Given the description of an element on the screen output the (x, y) to click on. 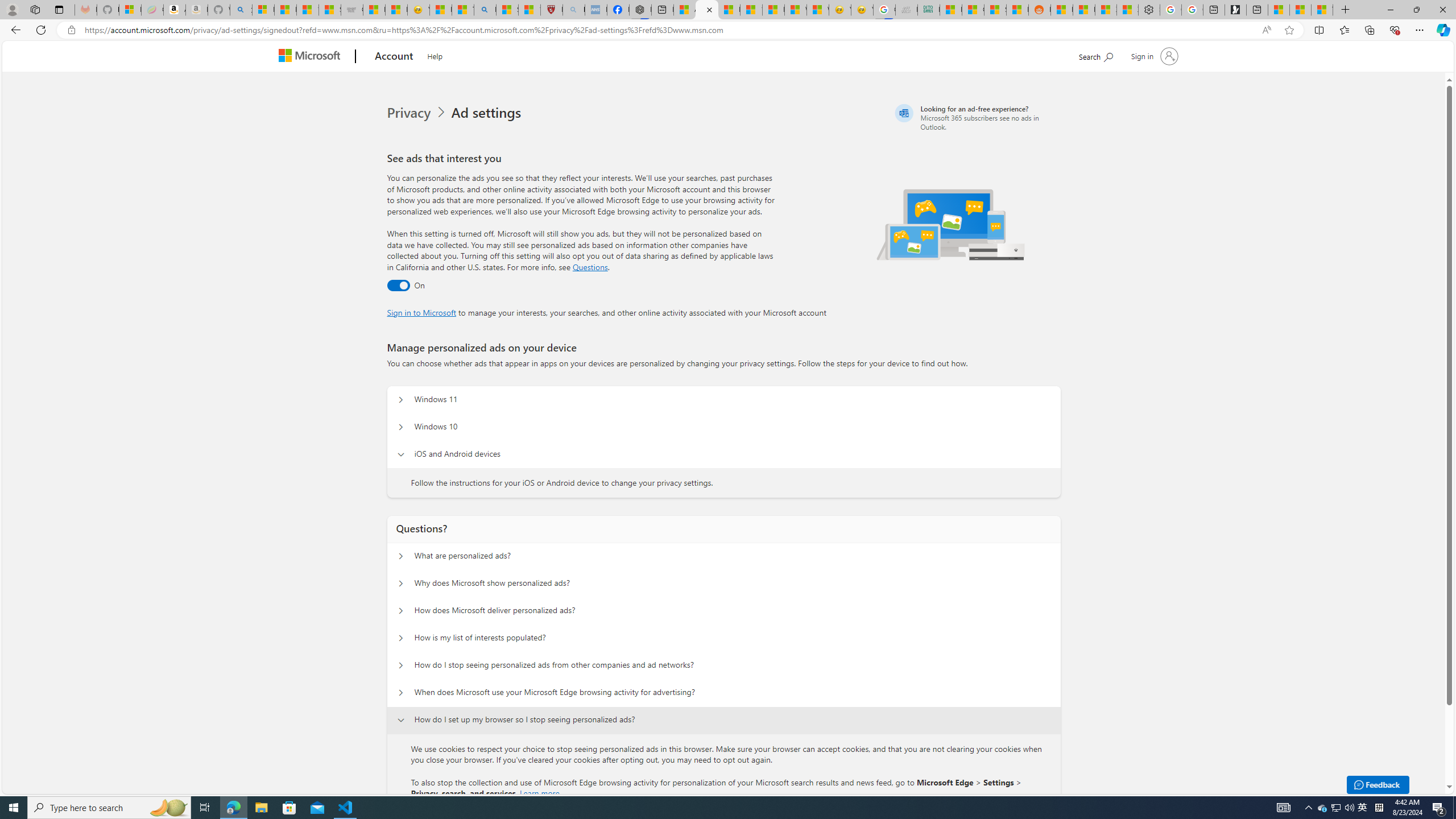
Fitness - MSN (773, 9)
14 Common Myths Debunked By Scientific Facts (751, 9)
Manage personalized ads on your device Windows 11 (401, 400)
Help (435, 54)
Questions? Why does Microsoft show personalized ads? (401, 583)
